Given the description of an element on the screen output the (x, y) to click on. 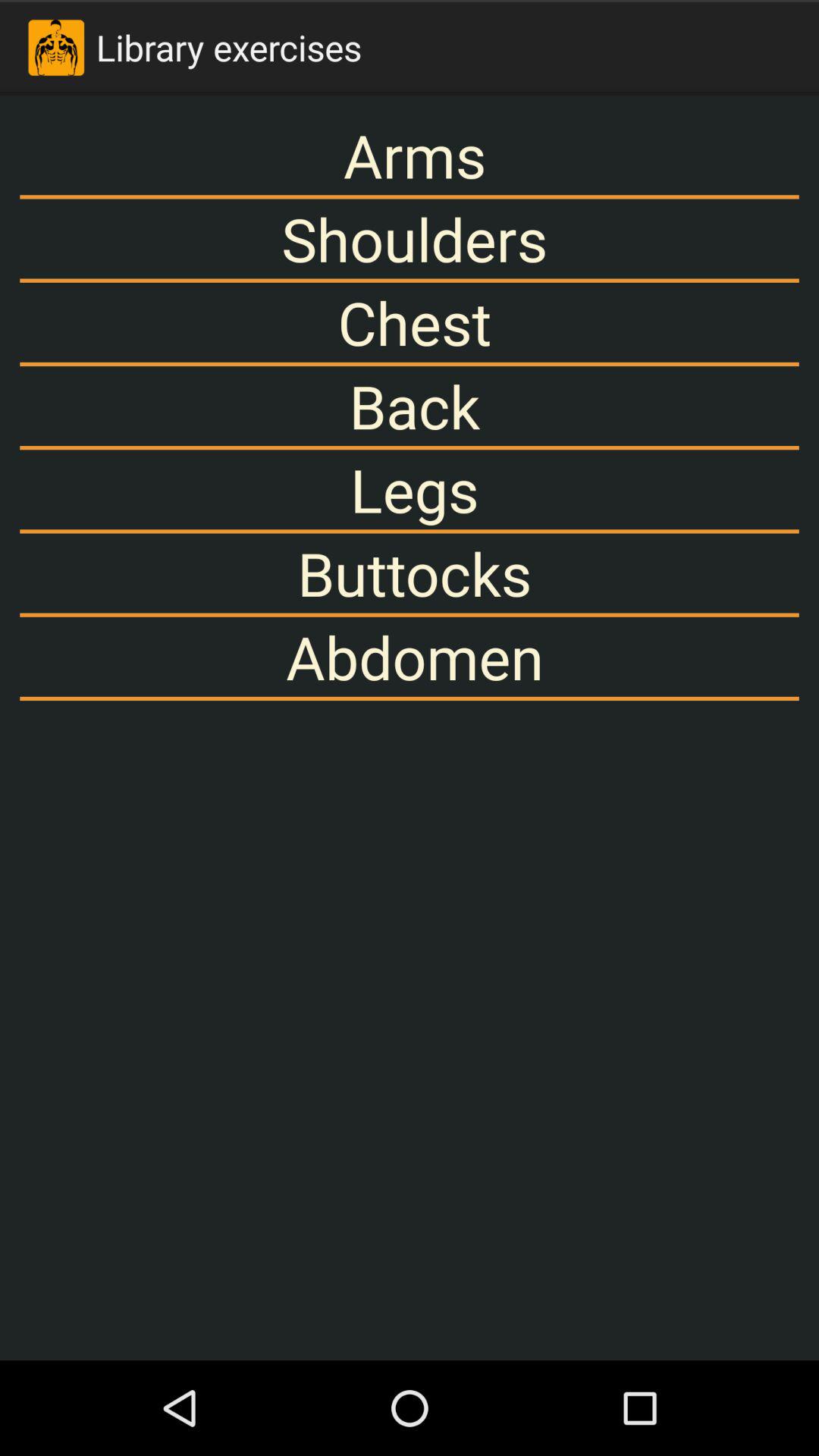
scroll to buttocks icon (409, 573)
